Given the description of an element on the screen output the (x, y) to click on. 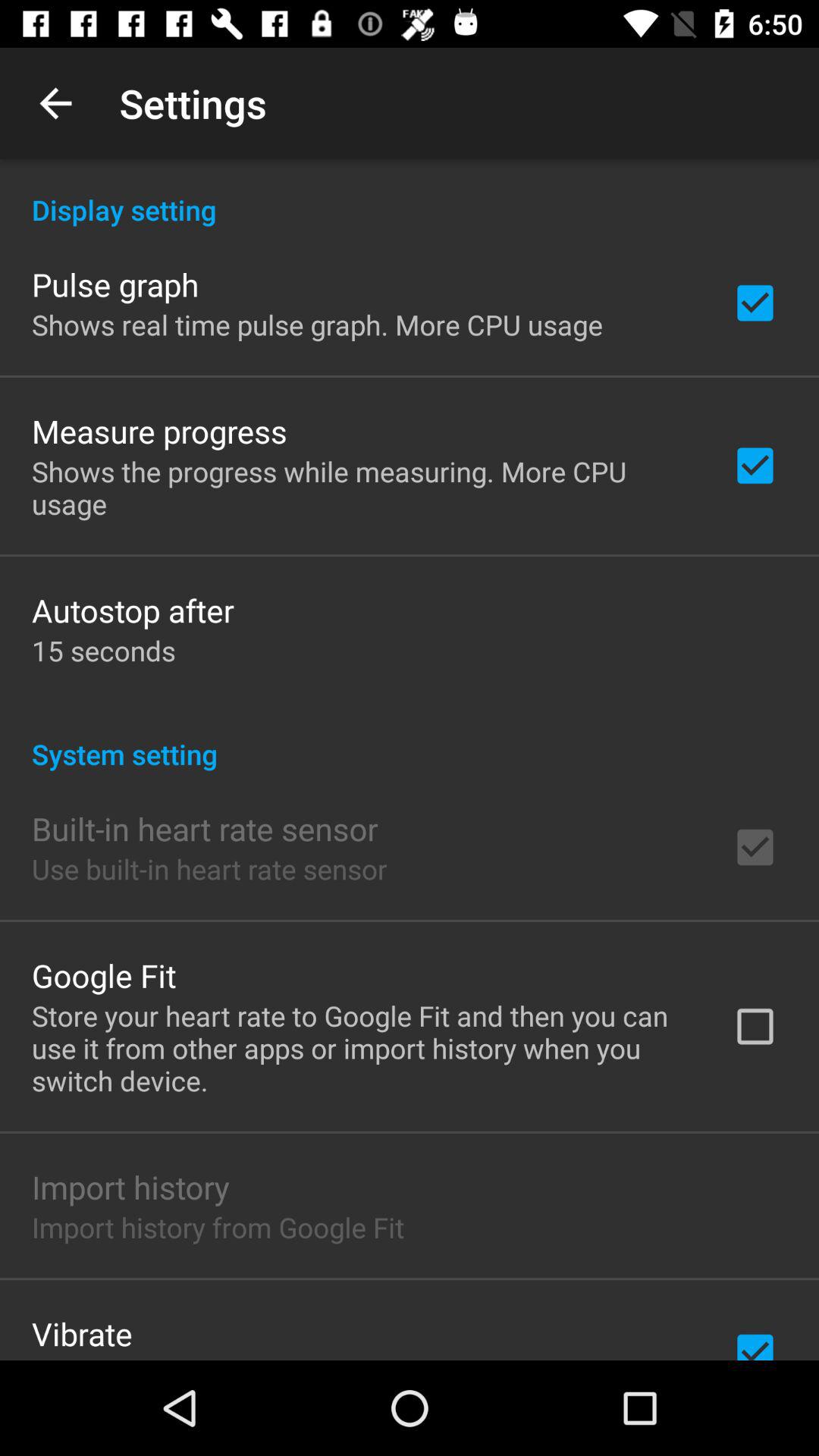
open app next to the settings app (55, 103)
